Given the description of an element on the screen output the (x, y) to click on. 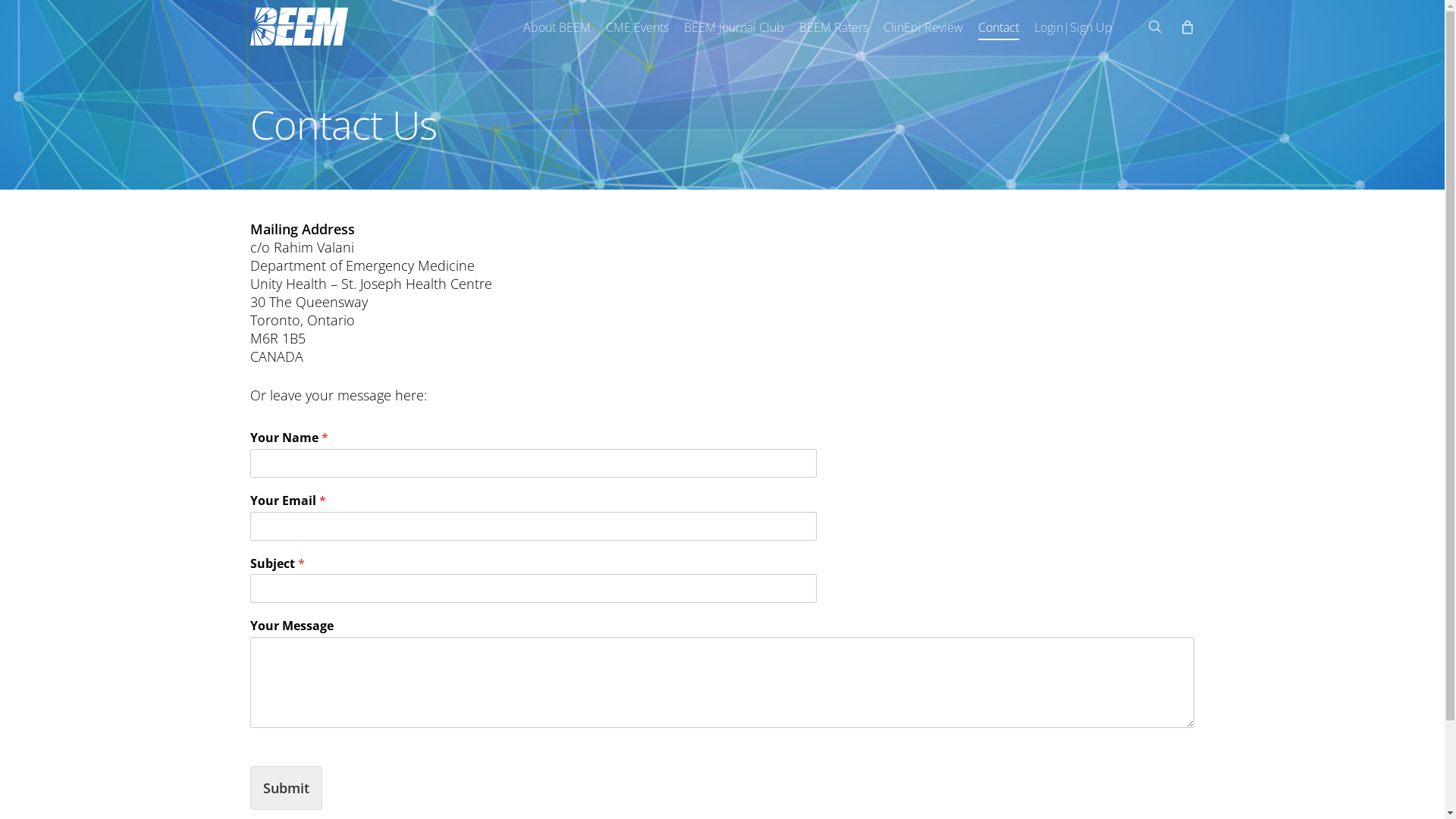
BEEM Raters Element type: text (833, 27)
search Element type: text (1154, 26)
About BEEM Element type: text (556, 27)
Login|Sign Up Element type: text (1073, 27)
ClinEpi Review Element type: text (923, 27)
CME Events Element type: text (636, 27)
Contact Element type: text (998, 27)
BEEM Journal Club Element type: text (734, 27)
Submit Element type: text (286, 787)
